Given the description of an element on the screen output the (x, y) to click on. 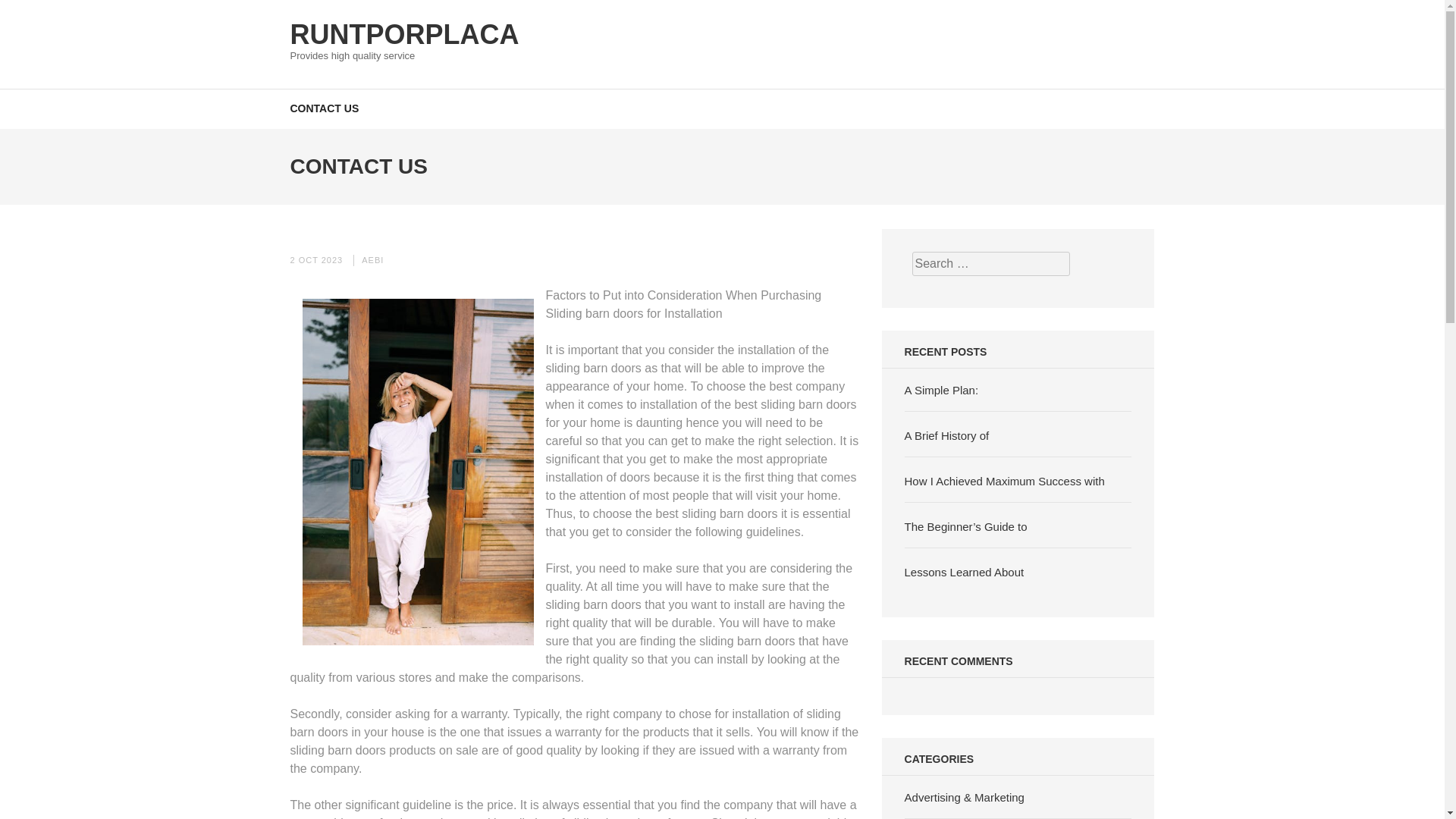
Search (1428, 19)
Lessons Learned About (964, 571)
How I Achieved Maximum Success with (1004, 481)
CONTACT US (323, 108)
RUNTPORPLACA (403, 33)
A Brief History of (947, 435)
A Simple Plan: (941, 390)
AEBI (372, 258)
2 OCT 2023 (315, 258)
